Given the description of an element on the screen output the (x, y) to click on. 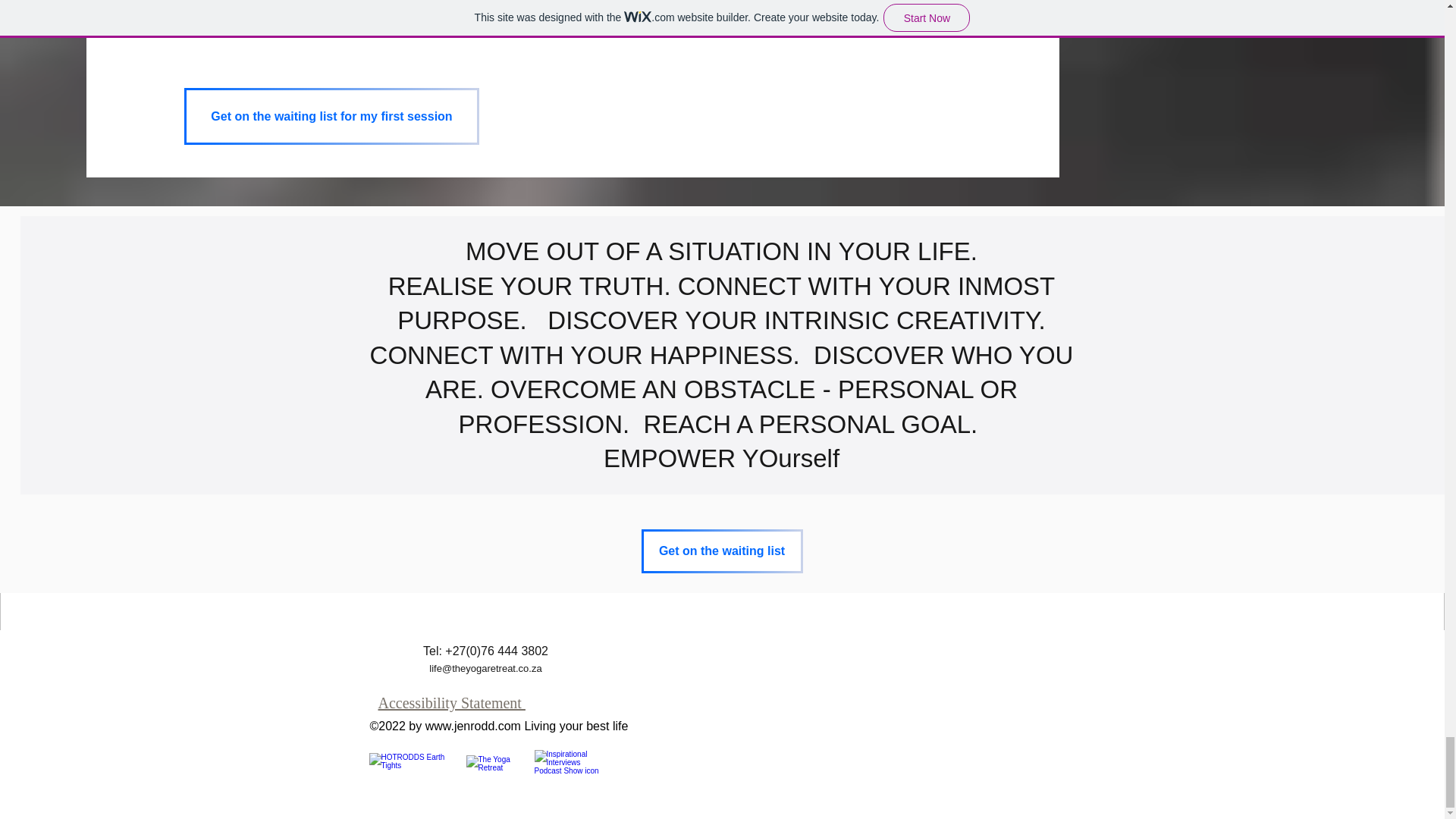
Get on the waiting list (722, 551)
Get on the waiting list for my first session (331, 115)
Accessibility Statement  (450, 702)
www.jenrodd.com (473, 725)
